Given the description of an element on the screen output the (x, y) to click on. 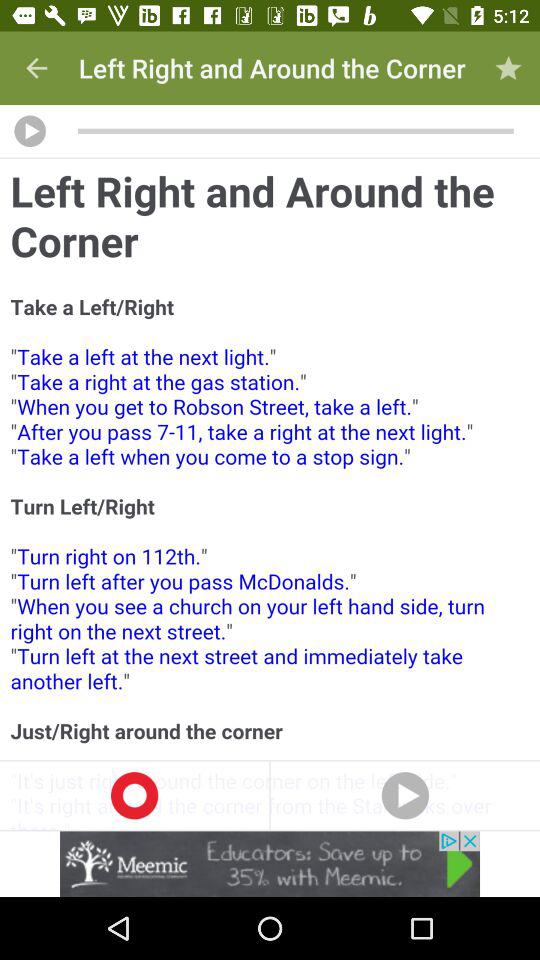
play audio (30, 131)
